Given the description of an element on the screen output the (x, y) to click on. 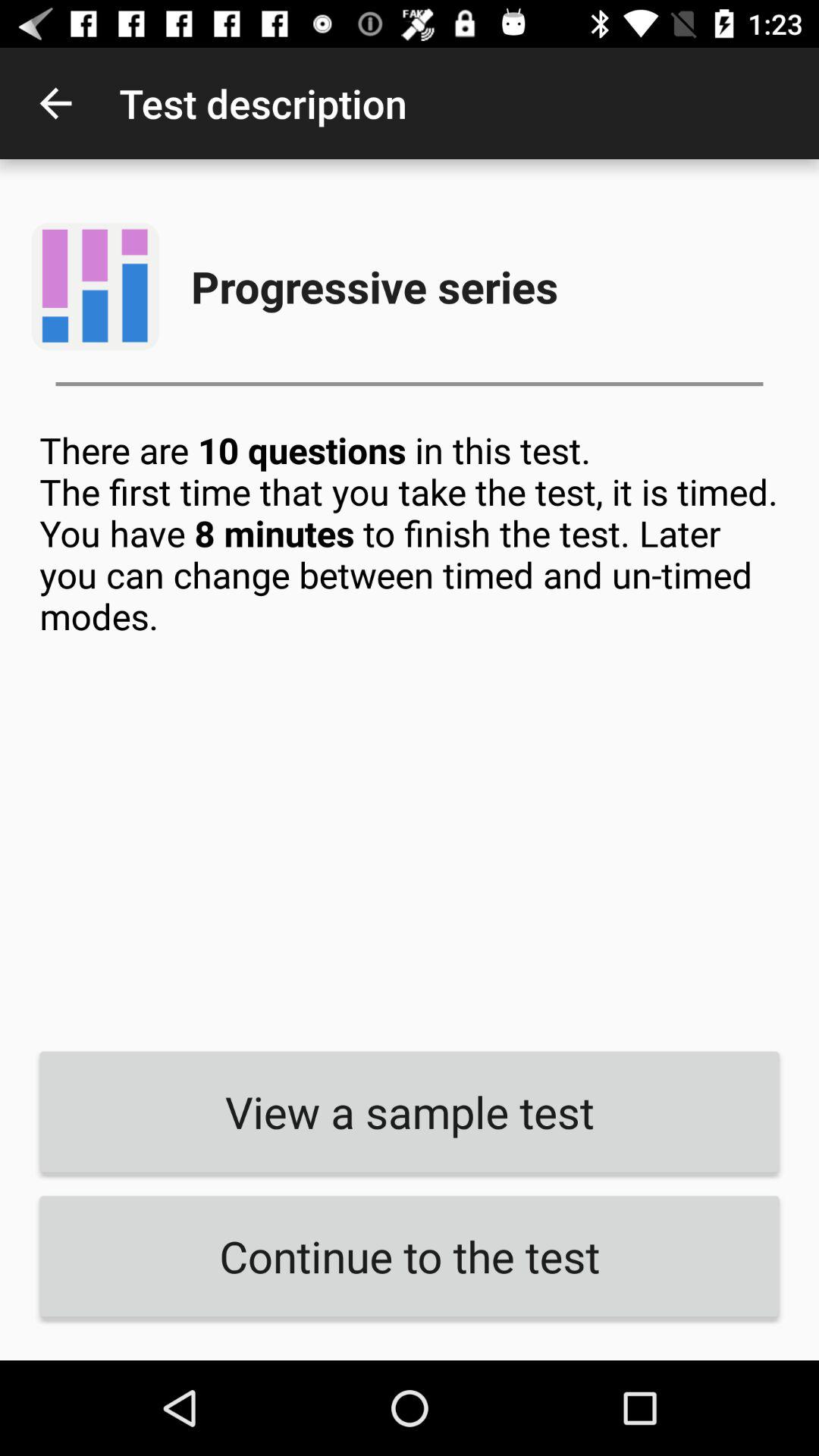
turn on the there are 10 item (409, 728)
